Given the description of an element on the screen output the (x, y) to click on. 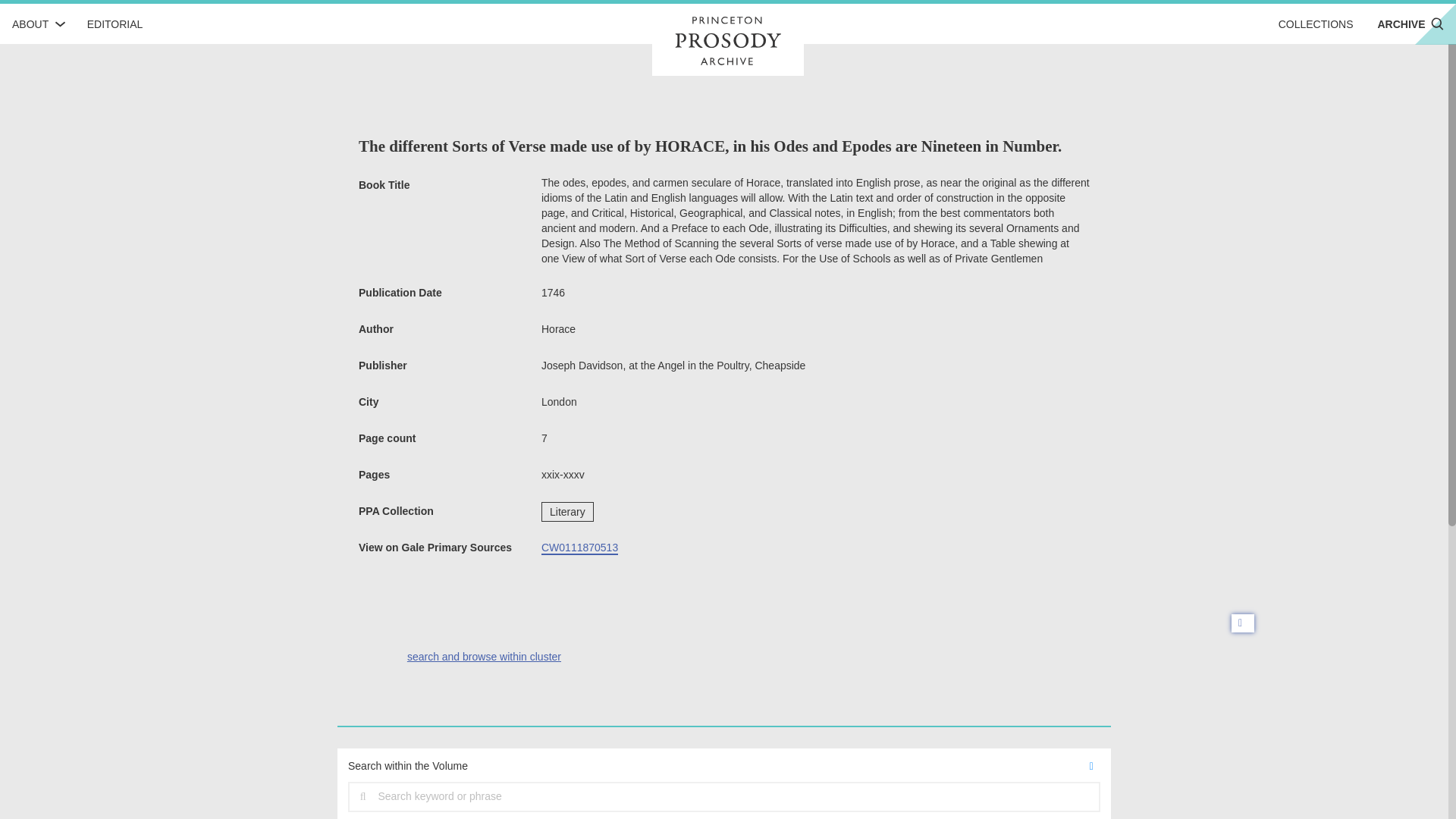
search and browse within cluster (483, 656)
CW0111870513 (579, 548)
EDITORIAL (115, 24)
COLLECTIONS (1315, 24)
back to top (1242, 623)
